Given the description of an element on the screen output the (x, y) to click on. 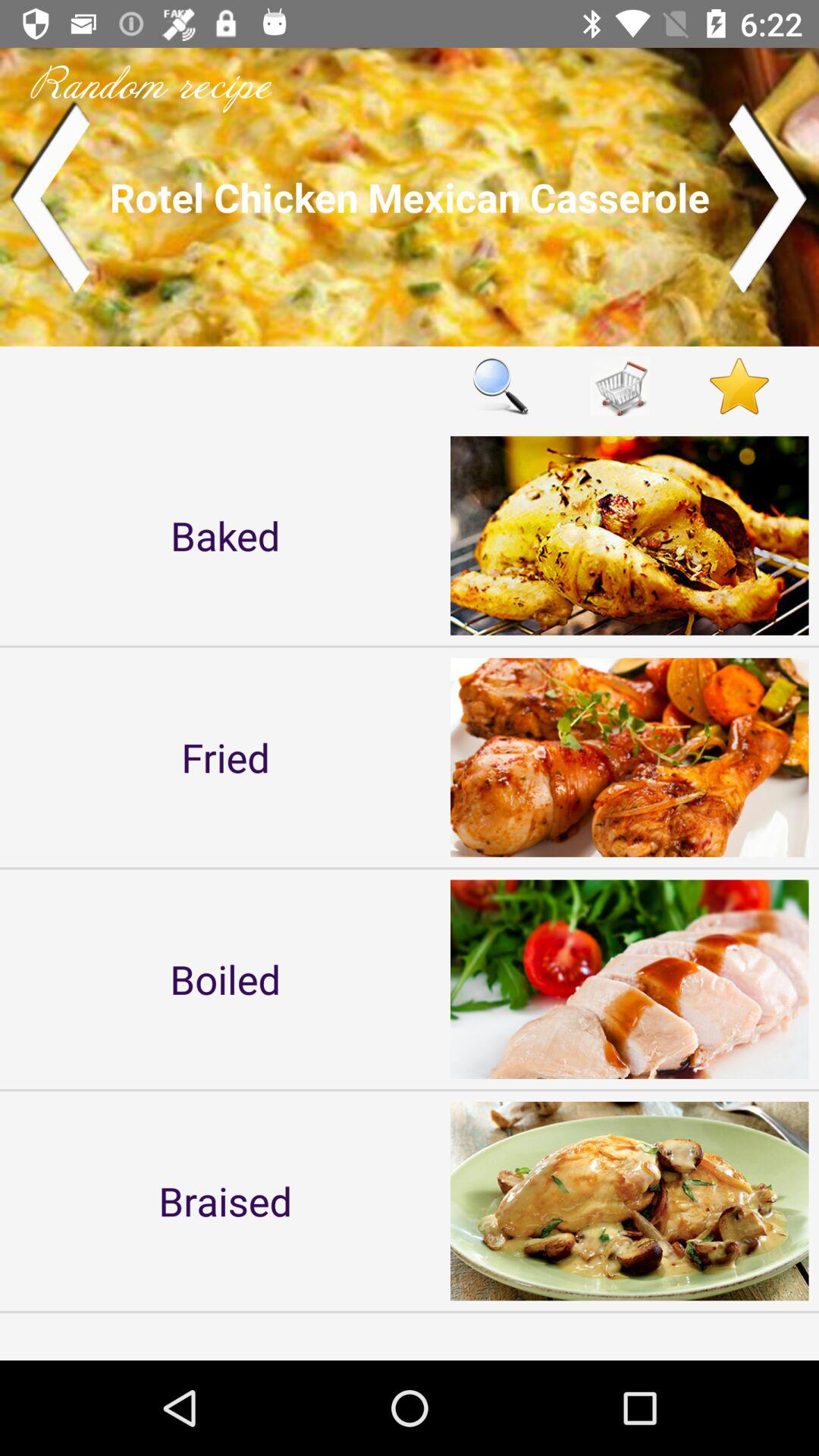
go to next option (769, 196)
